Given the description of an element on the screen output the (x, y) to click on. 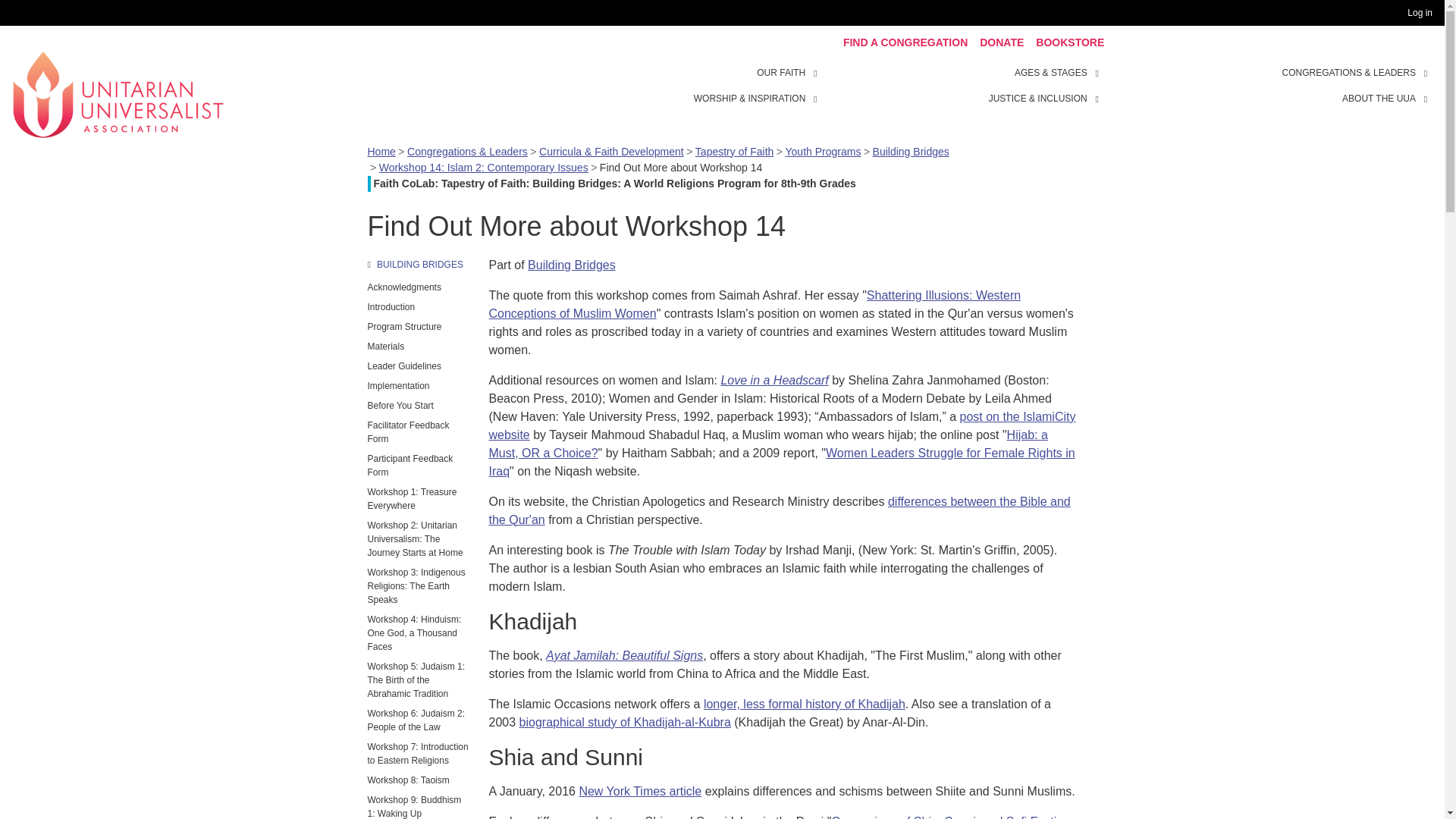
Go up this menu (418, 264)
Site Menu (962, 85)
DONATE (1001, 42)
BOOKSTORE (1069, 42)
Home (117, 92)
Log in (1423, 12)
FIND A CONGREGATION (905, 42)
OUR FAITH (817, 71)
OUR FAITH (781, 72)
